Given the description of an element on the screen output the (x, y) to click on. 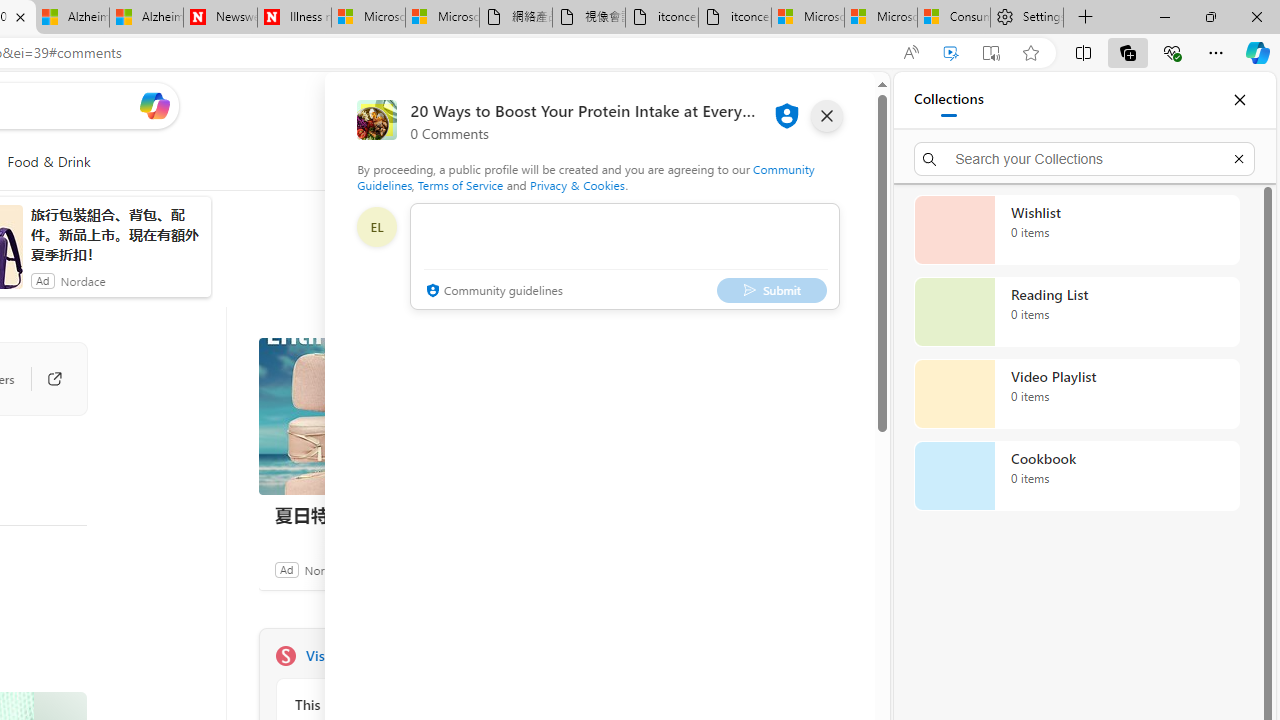
comment-box (624, 256)
Video Playlist collection, 0 items (1076, 394)
Enhance video (950, 53)
Cookbook collection, 0 items (1076, 475)
Consumer Health Data Privacy Policy (953, 17)
itconcepthk.com/projector_solutions.mp4 (734, 17)
